Given the description of an element on the screen output the (x, y) to click on. 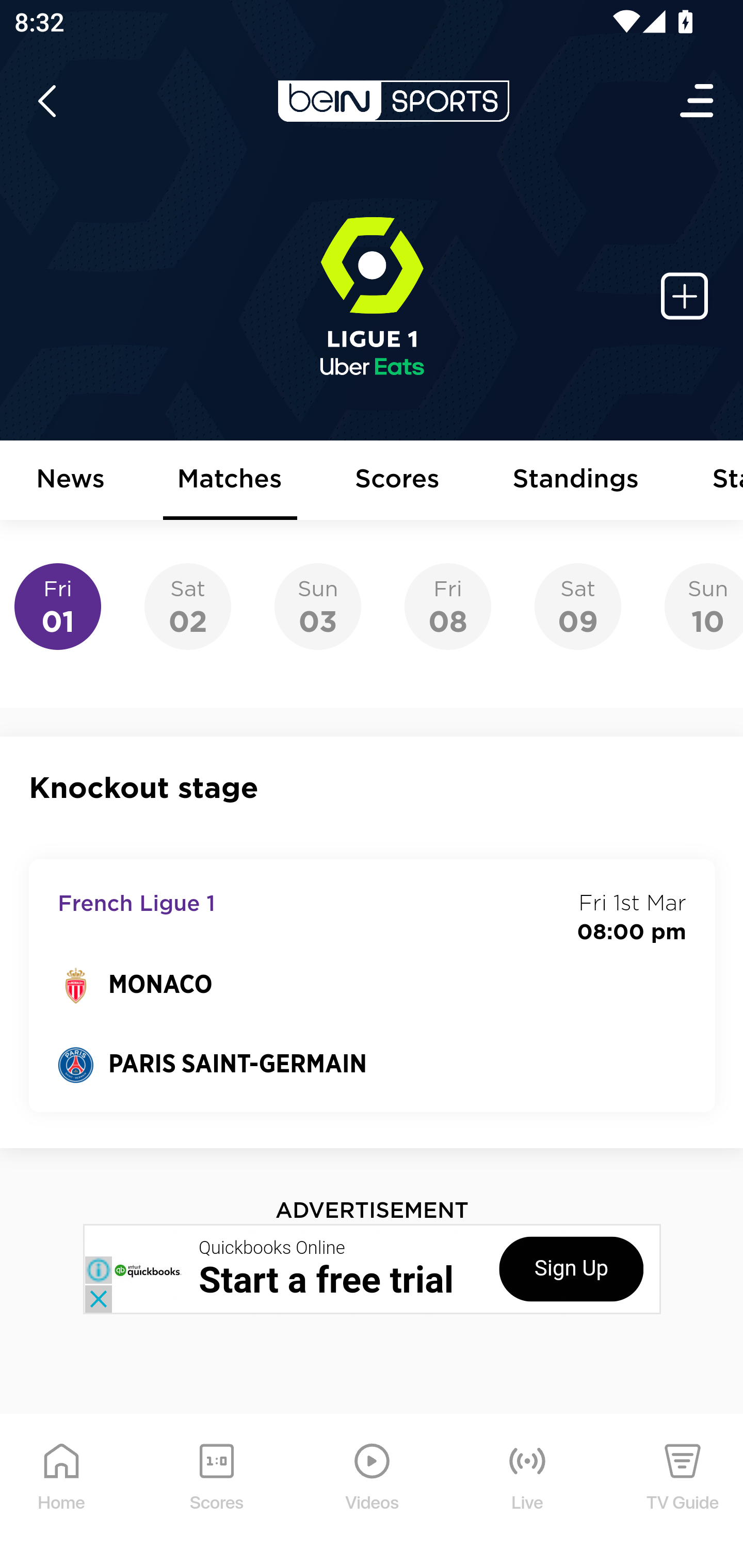
en-us?platform=mobile_android bein logo white (392, 101)
icon back (46, 101)
Open Menu Icon (697, 101)
News (70, 480)
Matches (229, 480)
Scores (397, 480)
Standings (575, 480)
Fri01 (58, 606)
Sat02 (187, 606)
Sun03 (318, 606)
Fri08 (447, 606)
Sat09 (578, 606)
Sun10 (703, 606)
Knockout stage (372, 787)
Quickbooks Online (272, 1247)
Sign Up (571, 1268)
Start a free trial (326, 1280)
Home Home Icon Home (61, 1491)
Home Home Icon Home (61, 1491)
Scores Scores Icon Scores (216, 1491)
Videos Videos Icon Videos (372, 1491)
TV Guide TV Guide Icon TV Guide (682, 1491)
